Given the description of an element on the screen output the (x, y) to click on. 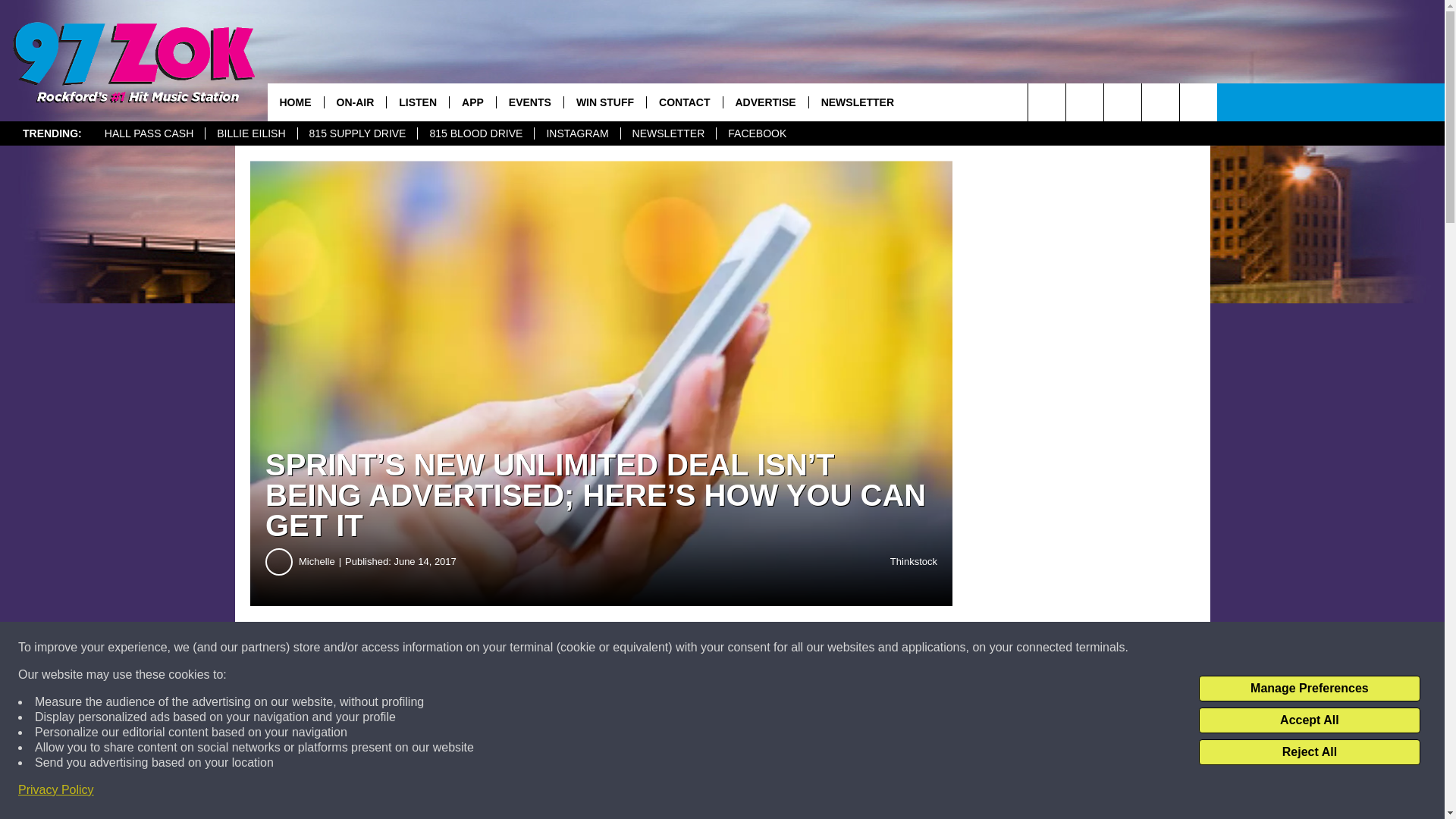
CONTACT (684, 102)
Share on Facebook (460, 647)
Accept All (1309, 720)
NEWSLETTER (668, 133)
815 SUPPLY DRIVE (357, 133)
HOME (294, 102)
EVENTS (529, 102)
Share on Twitter (741, 647)
INSTAGRAM (577, 133)
Manage Preferences (1309, 688)
